Given the description of an element on the screen output the (x, y) to click on. 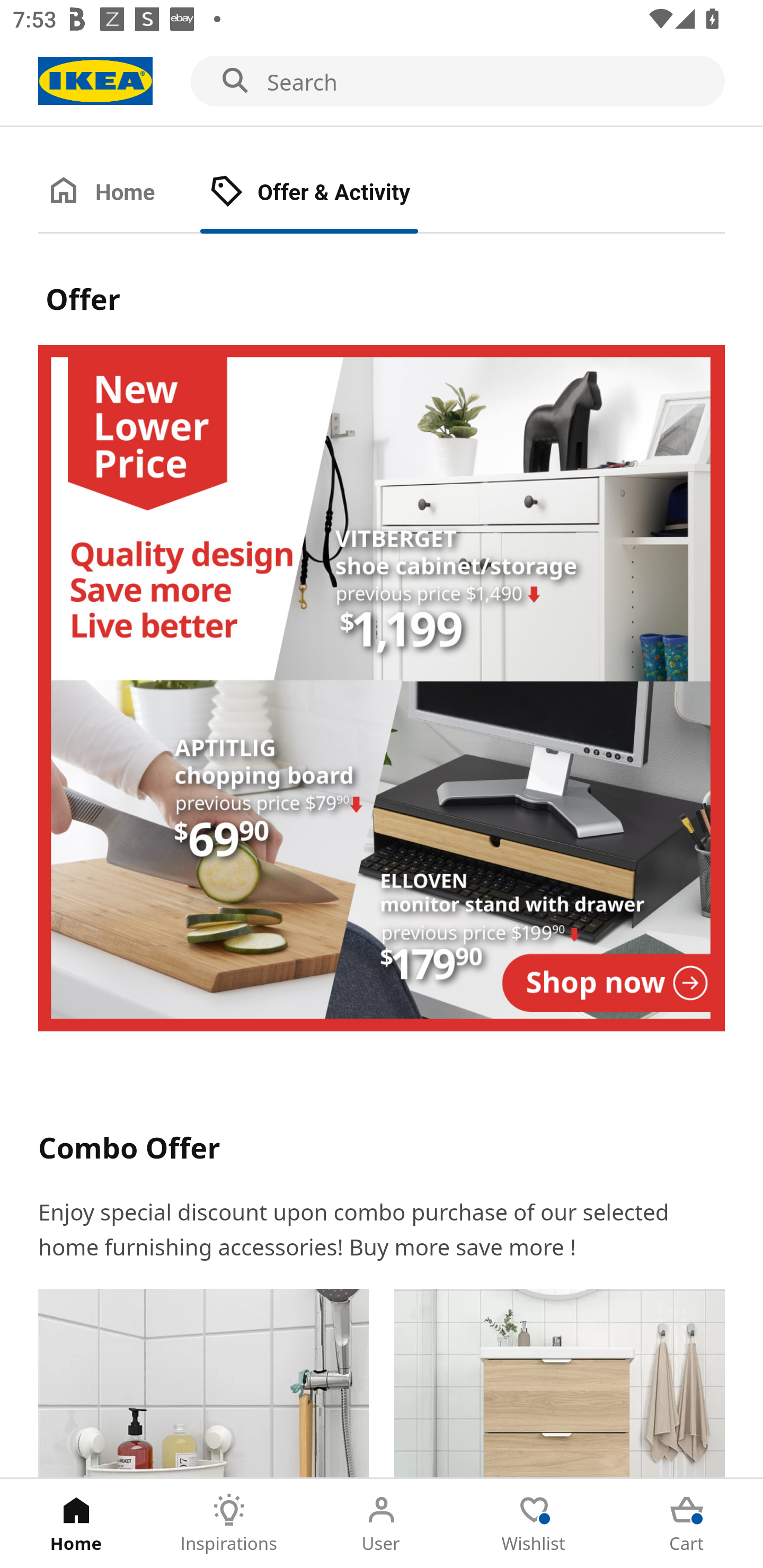
Search (381, 81)
Home
Tab 1 of 2 (118, 192)
Offer & Activity
Tab 2 of 2 (327, 192)
Home
Tab 1 of 5 (76, 1522)
Inspirations
Tab 2 of 5 (228, 1522)
User
Tab 3 of 5 (381, 1522)
Wishlist
Tab 4 of 5 (533, 1522)
Cart
Tab 5 of 5 (686, 1522)
